Given the description of an element on the screen output the (x, y) to click on. 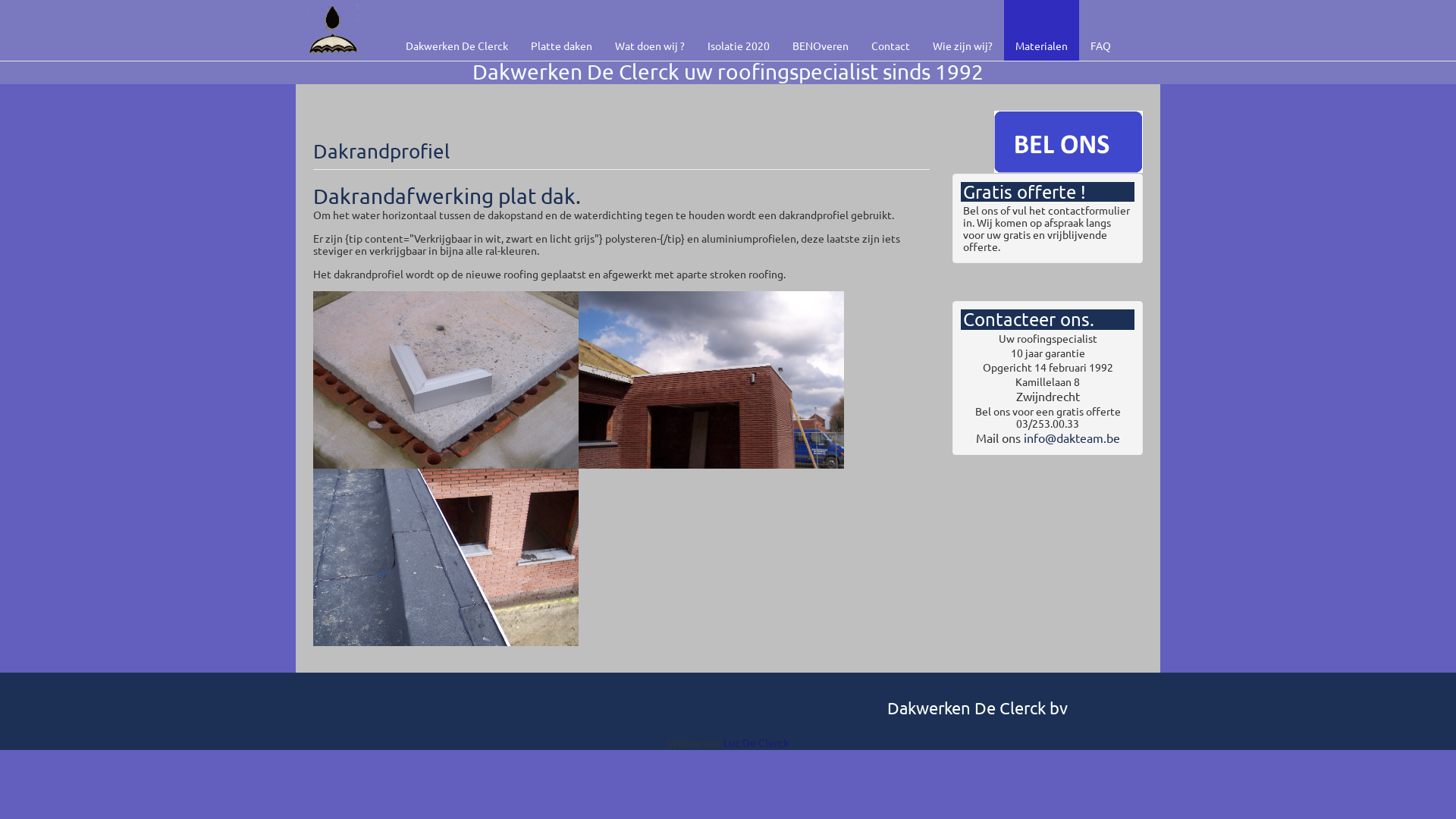
BENOveren Element type: text (820, 30)
Dakwerken De Clerck Element type: text (456, 30)
Platte daken Element type: text (561, 30)
info@dakteam.be Element type: text (1070, 437)
Isolatie 2020 Element type: text (738, 30)
Luc De Clerck Element type: text (755, 742)
Wat doen wij ? Element type: text (649, 30)
Wie zijn wij? Element type: text (962, 30)
FAQ Element type: text (1100, 30)
Materialen Element type: text (1041, 30)
Contact Element type: text (890, 30)
Dakwerken De Clerck bv Element type: text (977, 707)
